Given the description of an element on the screen output the (x, y) to click on. 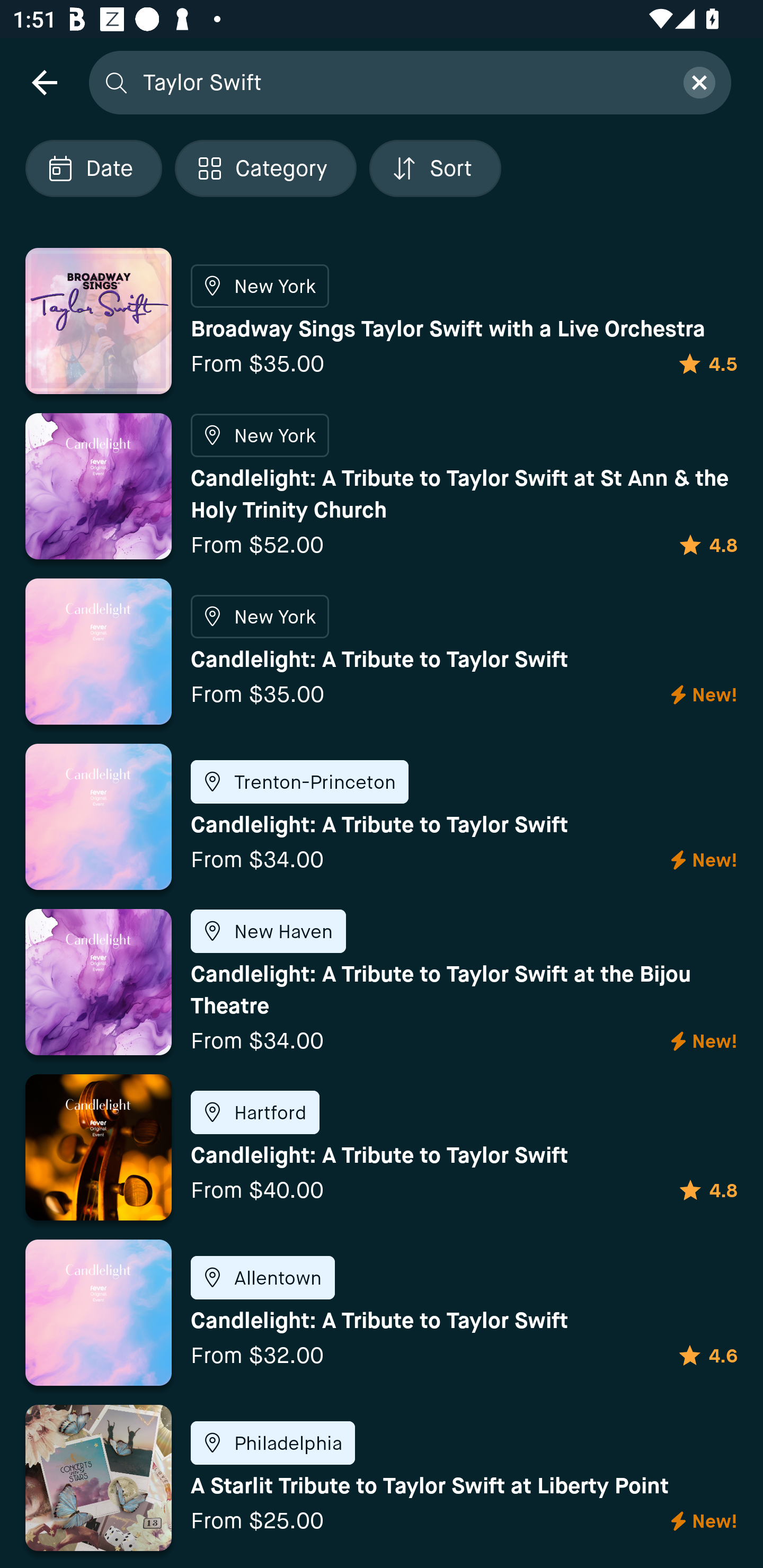
navigation icon (44, 81)
Taylor Swift (402, 81)
Localized description Date (93, 168)
Localized description Category (265, 168)
Localized description Sort (435, 168)
